Given the description of an element on the screen output the (x, y) to click on. 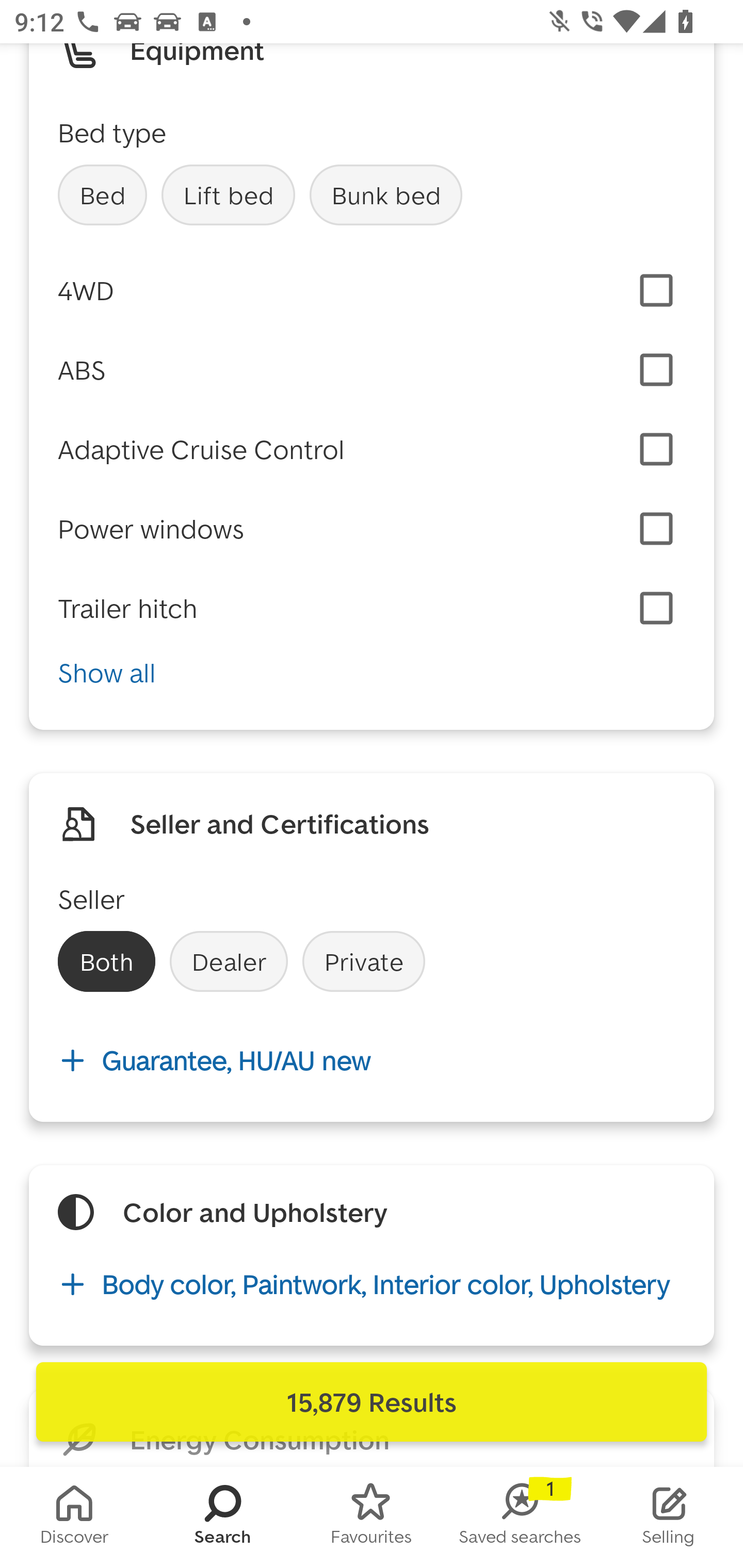
Equipment (197, 55)
Bed type (111, 132)
Bed (102, 194)
Lift bed (227, 194)
Bunk bed (385, 194)
4WD (85, 289)
ABS (81, 369)
Adaptive Cruise Control (201, 449)
Power windows (150, 528)
Trailer hitch (127, 608)
Show all (371, 672)
Seller and Certifications (279, 823)
Seller (91, 899)
Both (106, 961)
Dealer (228, 961)
Private (363, 961)
Guarantee, HU/AU new (371, 1060)
Color and Upholstery (254, 1211)
Body color, Paintwork, Interior color, Upholstery (371, 1283)
15,879 Results (371, 1401)
HOMESCREEN Discover (74, 1517)
SEARCH Search (222, 1517)
FAVORITES Favourites (371, 1517)
SAVED_SEARCHES Saved searches 1 (519, 1517)
STOCK_LIST Selling (668, 1517)
